Given the description of an element on the screen output the (x, y) to click on. 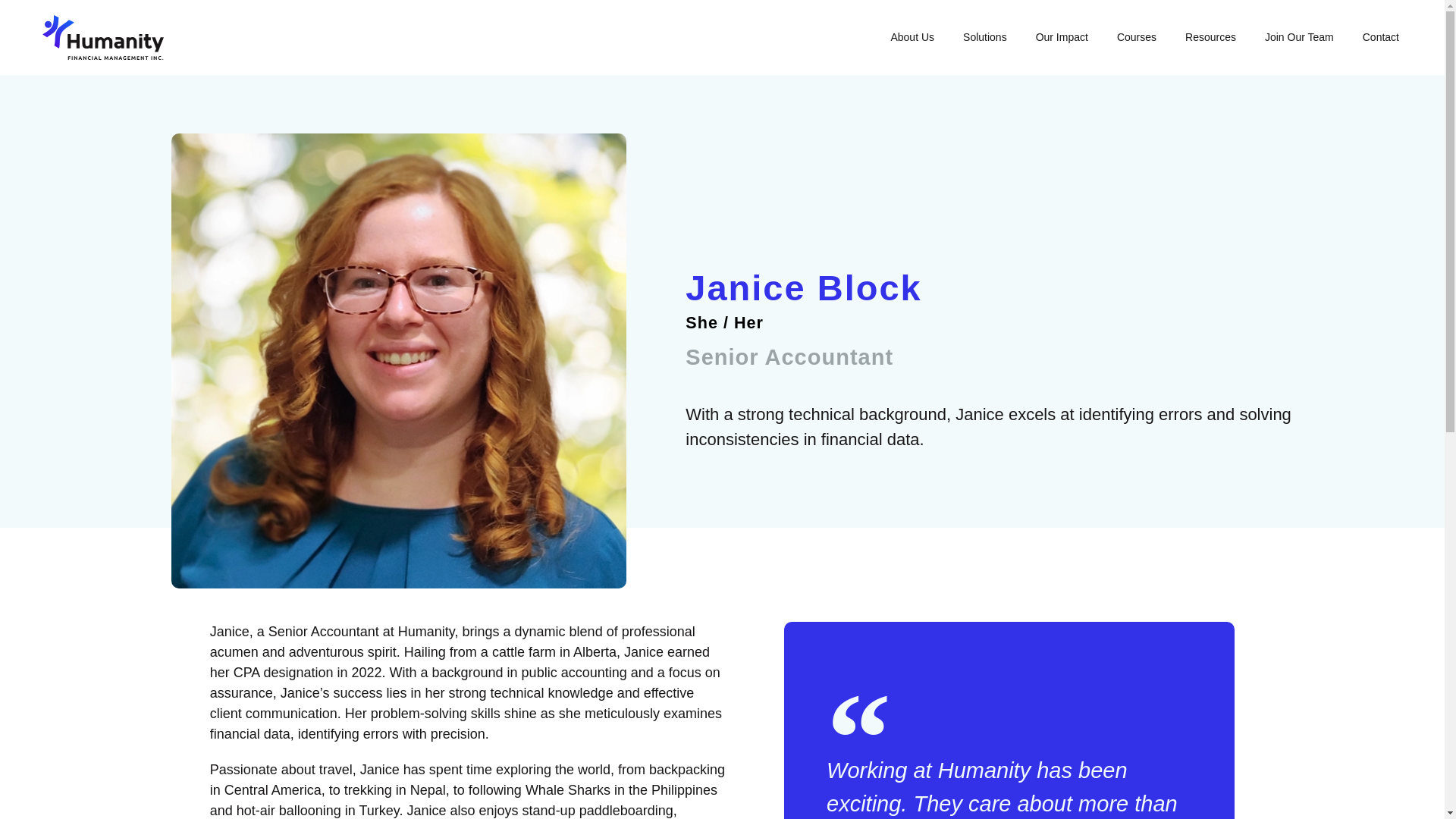
About Us (911, 37)
Courses (1135, 37)
Our Impact (1061, 37)
Join Our Team (1299, 37)
Contact (1380, 37)
Resources (1210, 37)
Search (1356, 461)
Solutions (984, 37)
